Given the description of an element on the screen output the (x, y) to click on. 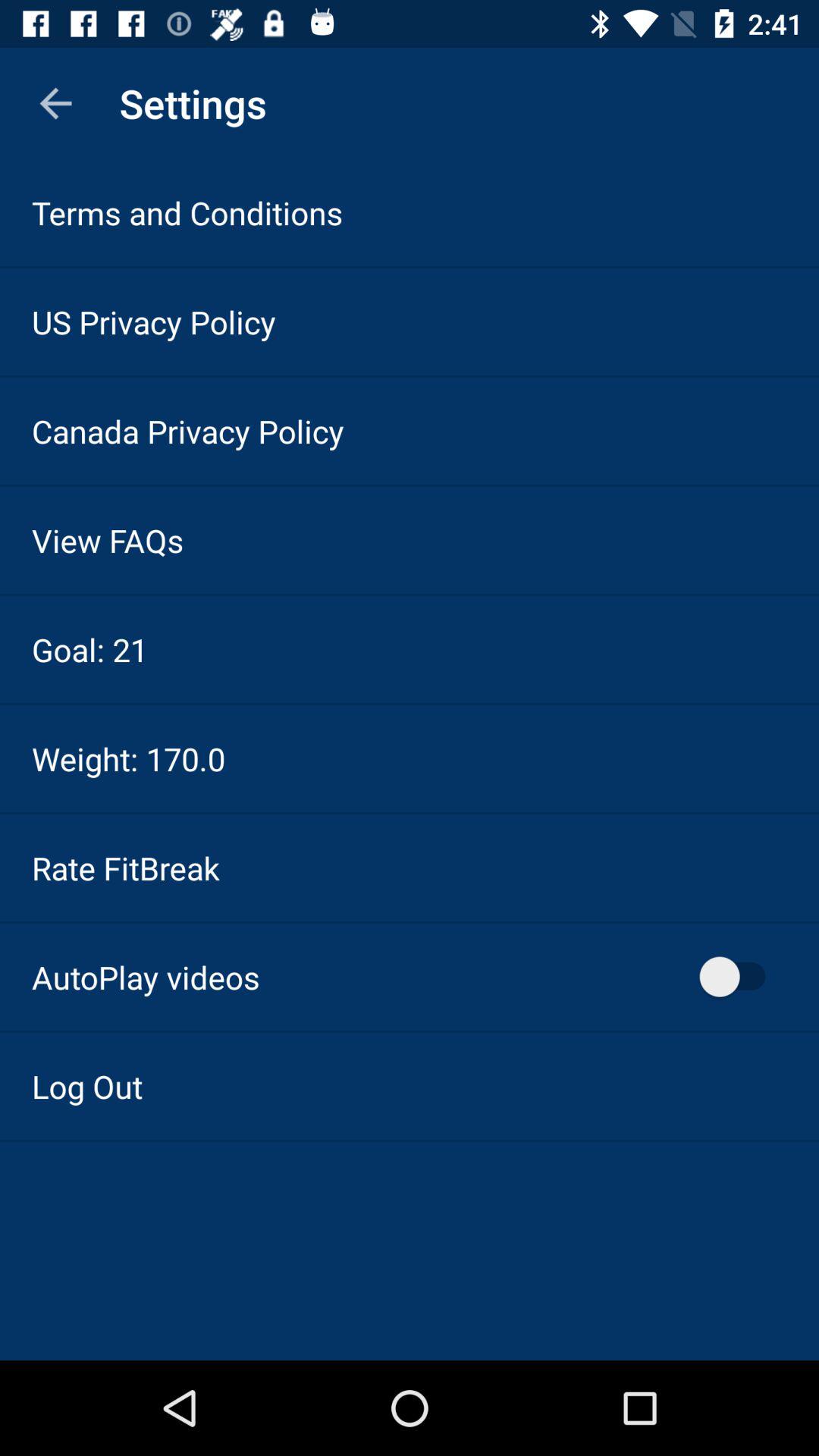
open item next to the autoplay videos item (739, 976)
